Given the description of an element on the screen output the (x, y) to click on. 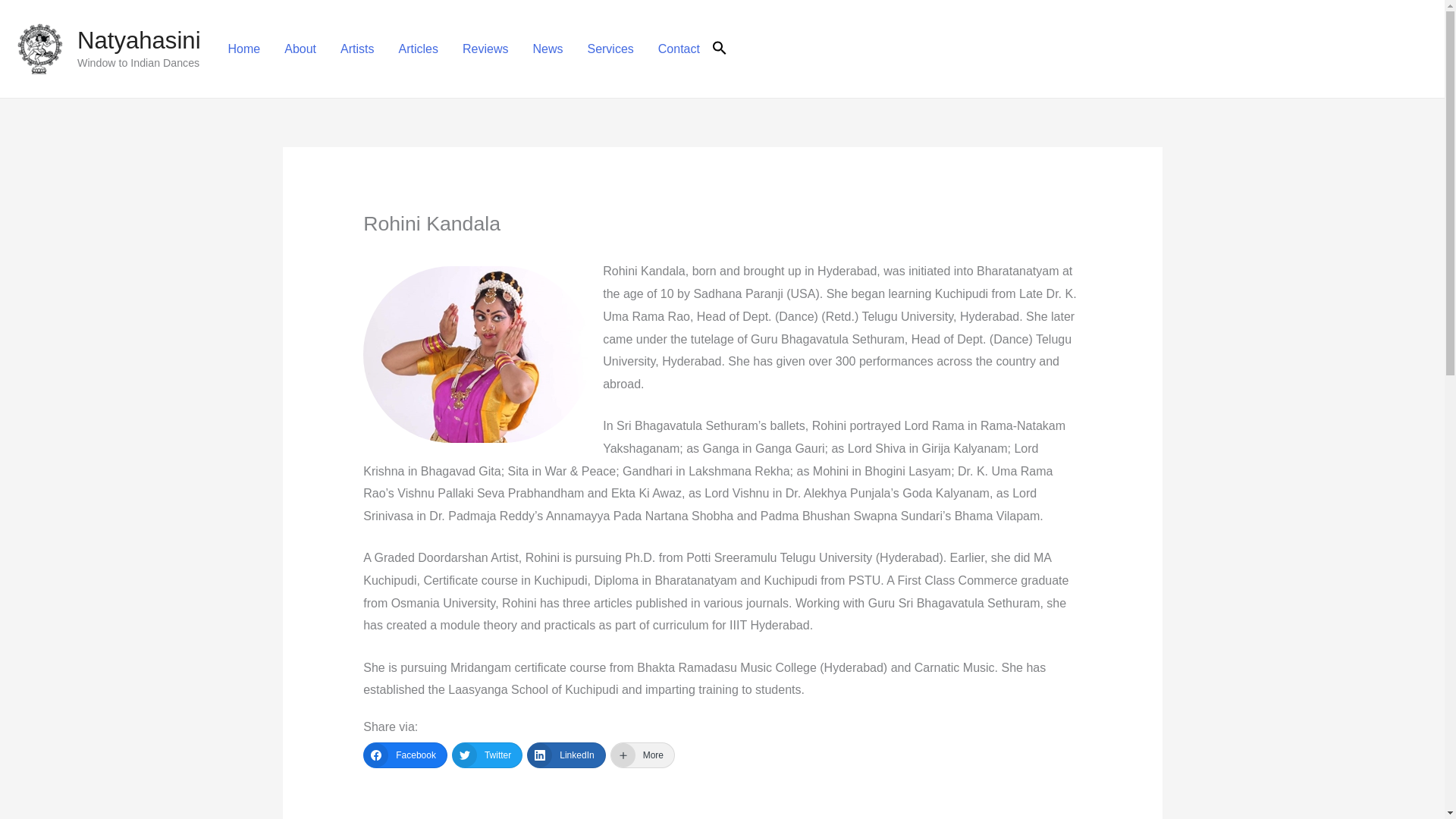
Home (244, 49)
Twitter (486, 755)
Reviews (484, 49)
LinkedIn (566, 755)
More (642, 755)
Contact (678, 49)
Articles (418, 49)
Natyahasini (138, 40)
Artists (357, 49)
About (300, 49)
